Given the description of an element on the screen output the (x, y) to click on. 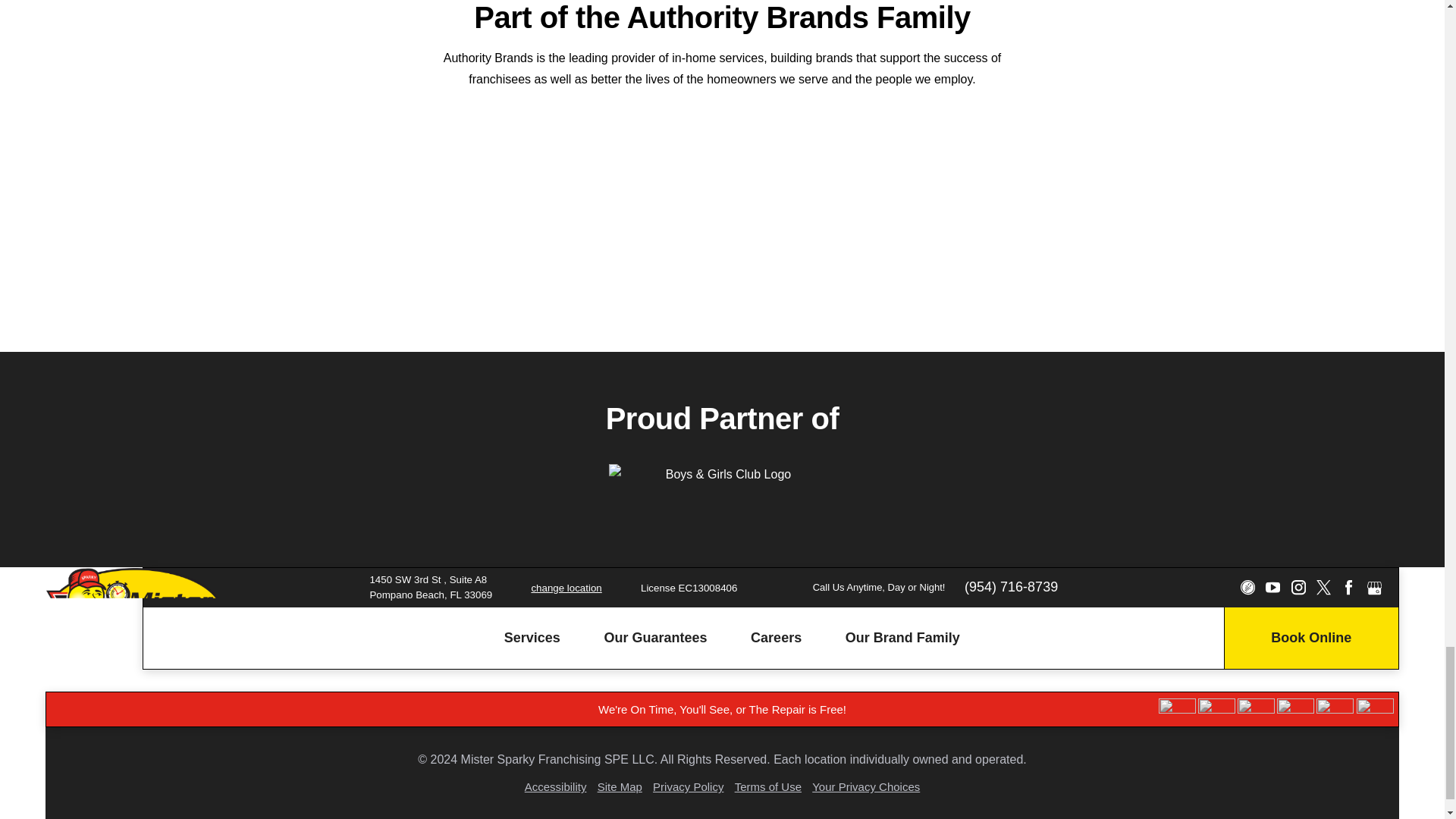
Twitter (1323, 586)
Facebook (1347, 586)
Instagram (1297, 586)
Google My Business (1374, 586)
CareerPlug (1247, 586)
YouTube (1272, 586)
